Given the description of an element on the screen output the (x, y) to click on. 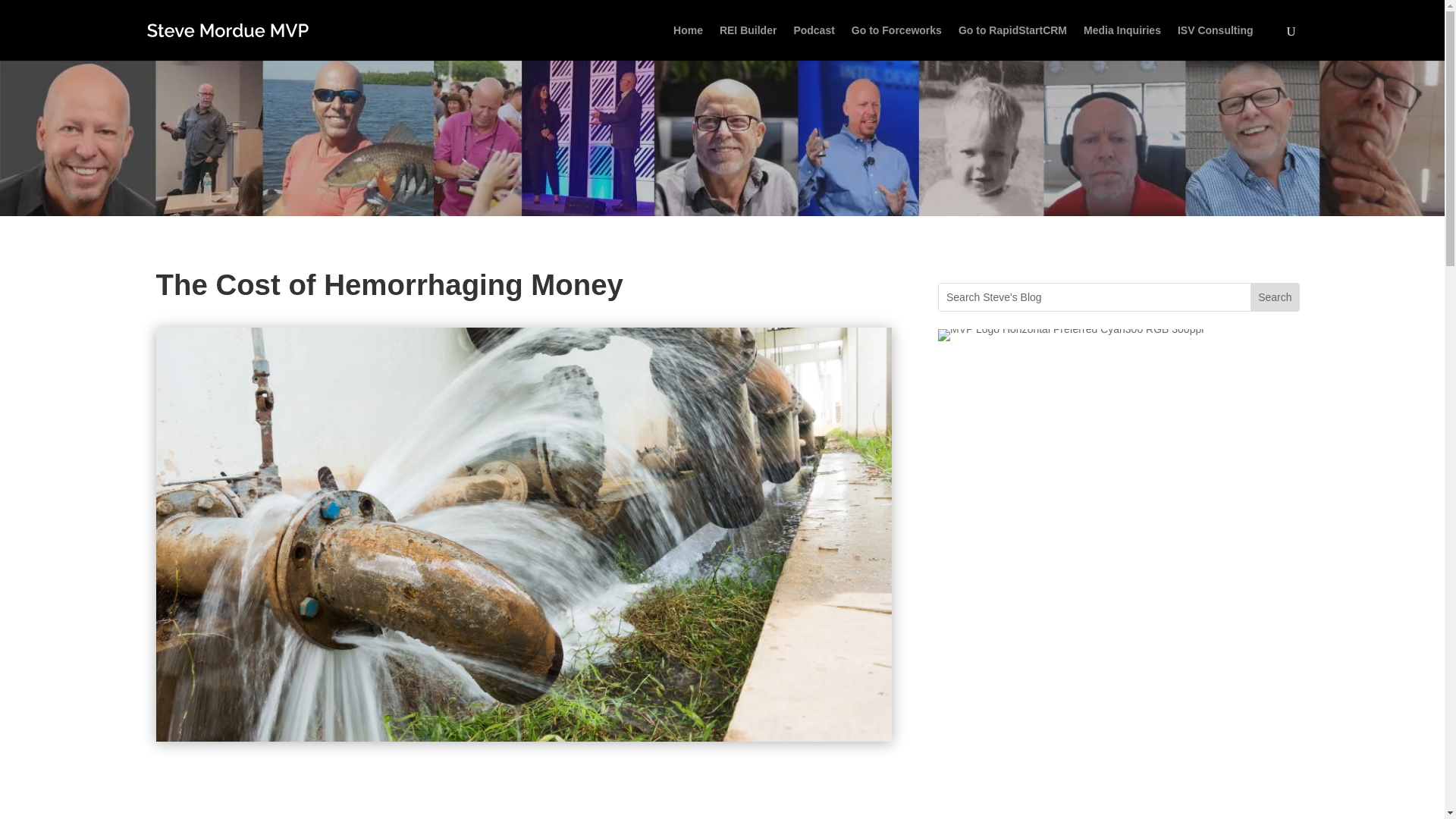
Home (687, 42)
Search (1274, 297)
Search (1274, 297)
Search (1274, 297)
Go to Forceworks (896, 42)
Podcast (813, 42)
REI Builder (747, 42)
MVP Logo Horizontal Preferred Cyan300 RGB 300ppi (1070, 335)
ISV Consulting (1215, 42)
Go to RapidStartCRM (1012, 42)
Media Inquiries (1121, 42)
